Given the description of an element on the screen output the (x, y) to click on. 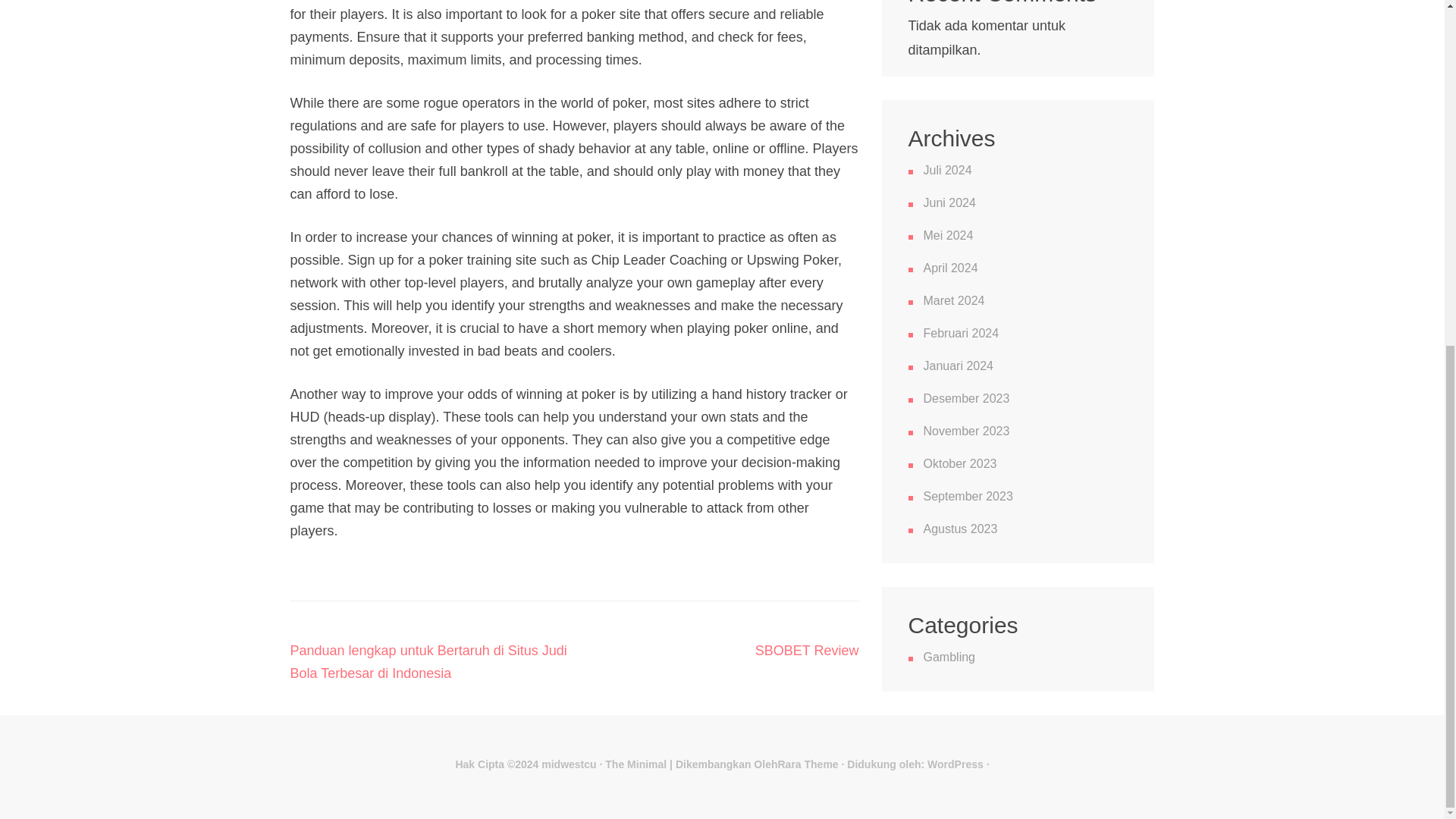
SBOBET Review (807, 650)
